Given the description of an element on the screen output the (x, y) to click on. 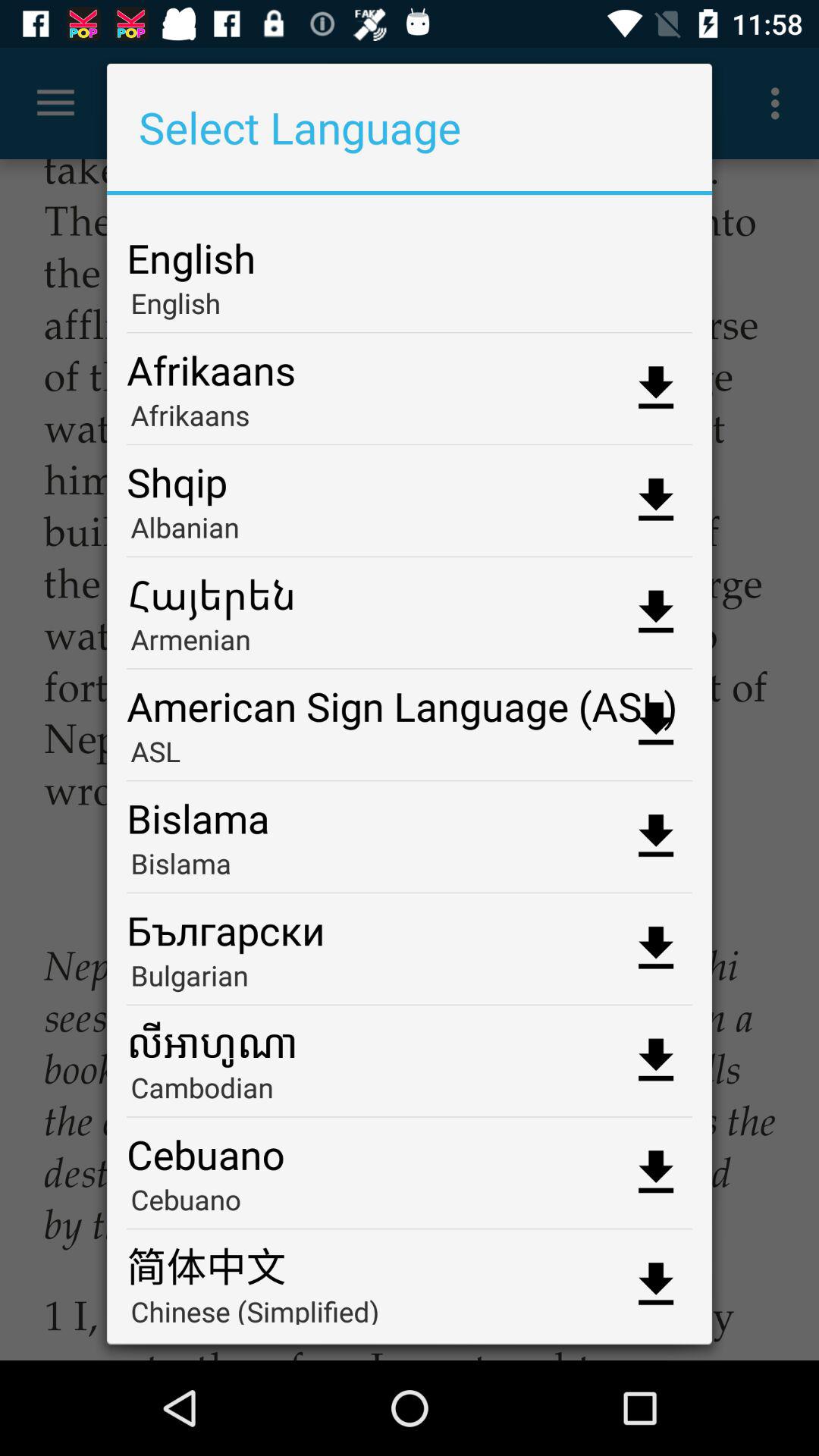
press icon above the cebuano app (409, 1092)
